Given the description of an element on the screen output the (x, y) to click on. 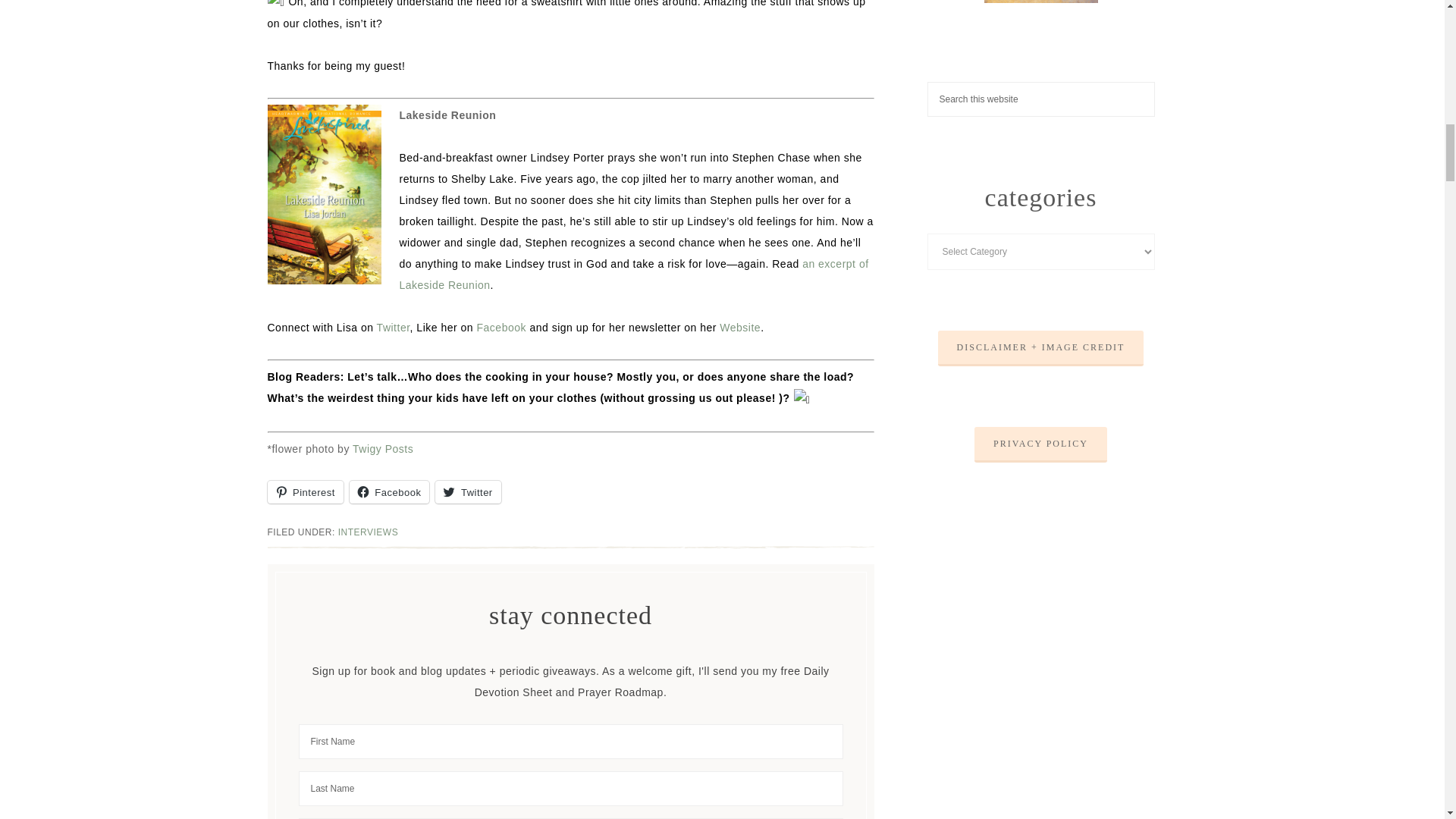
Twigy Posts (382, 449)
Pinterest (304, 491)
Twitter (467, 491)
Click to share on Pinterest (304, 491)
Facebook (501, 327)
Click to share on Twitter (467, 491)
an excerpt of Lakeside Reunion (632, 274)
Website (739, 327)
Twitter (393, 327)
